Given the description of an element on the screen output the (x, y) to click on. 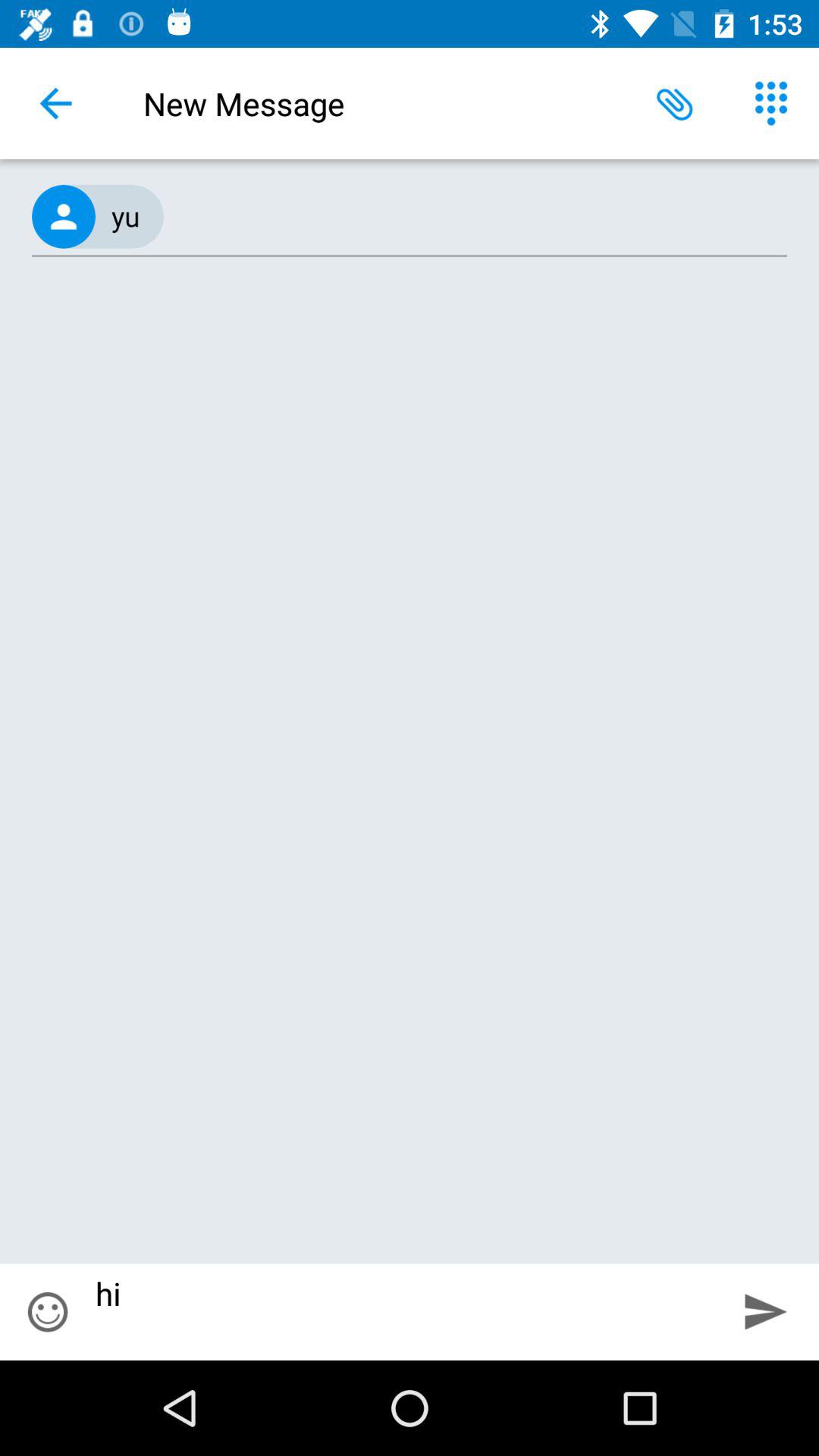
select the item to the right of hi
 icon (766, 1311)
